Given the description of an element on the screen output the (x, y) to click on. 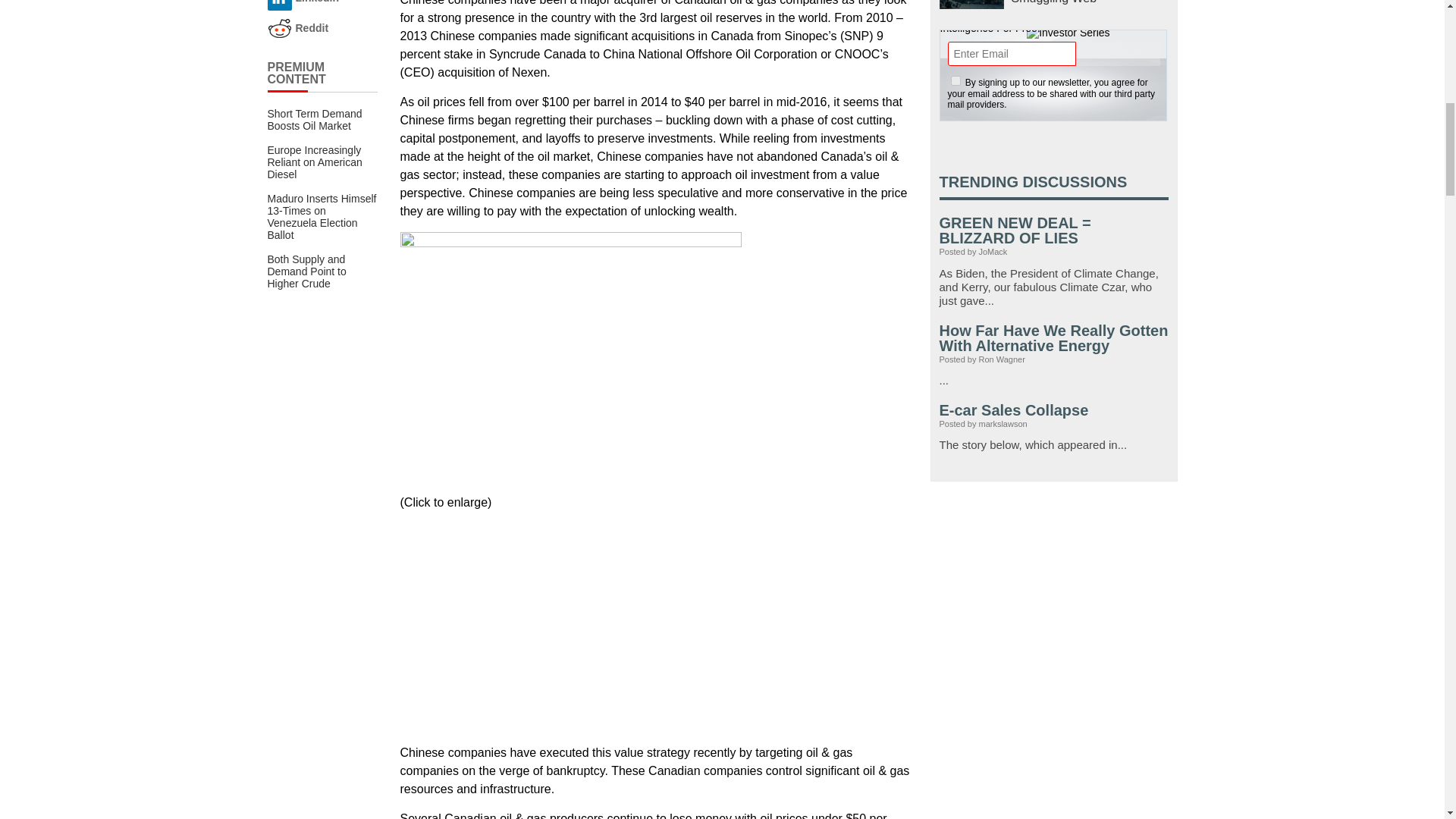
International Oil Companies Caught in Kurdish Smuggling Web (971, 4)
1 (955, 80)
